Given the description of an element on the screen output the (x, y) to click on. 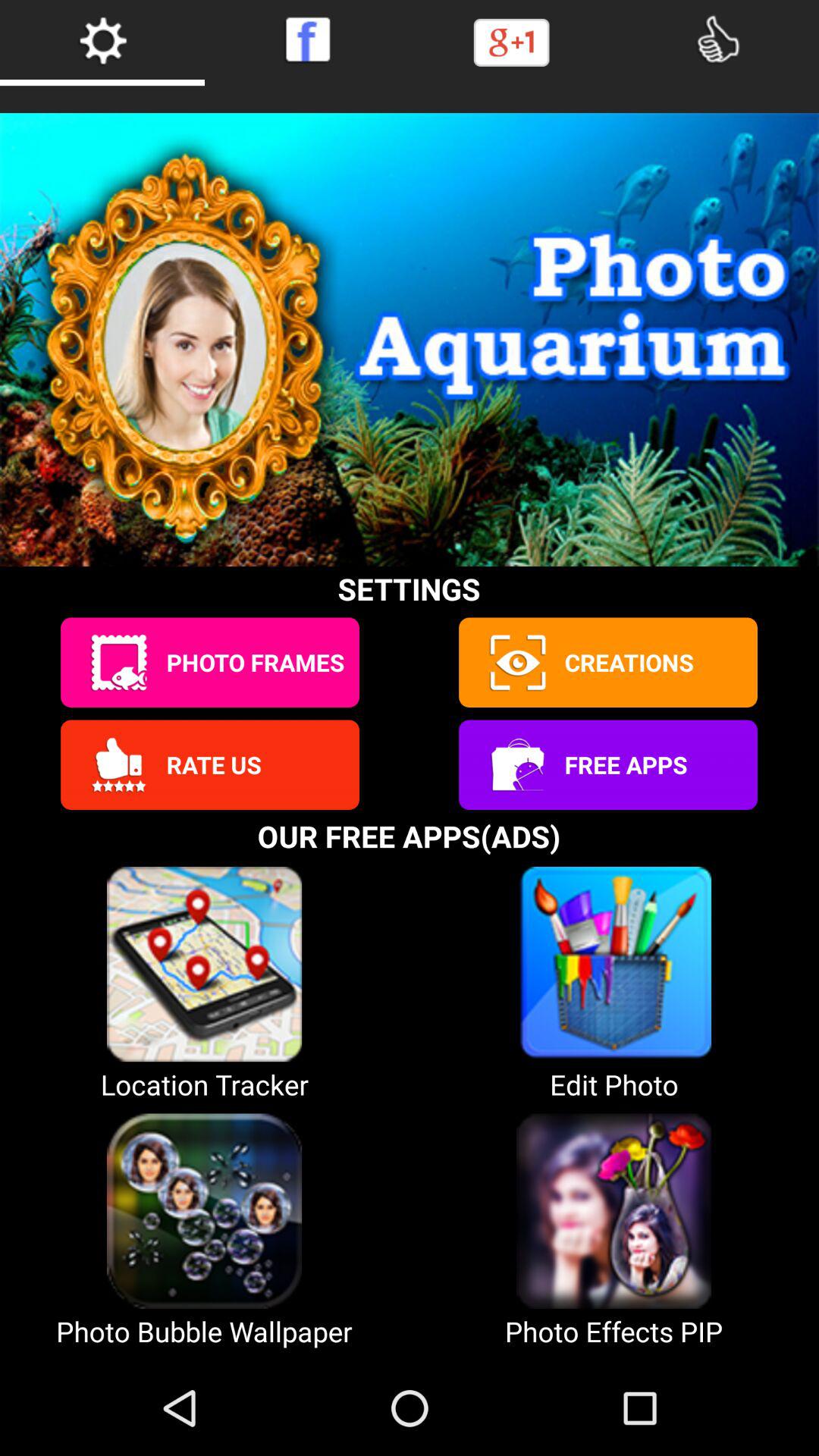
facebook icon (306, 39)
